Given the description of an element on the screen output the (x, y) to click on. 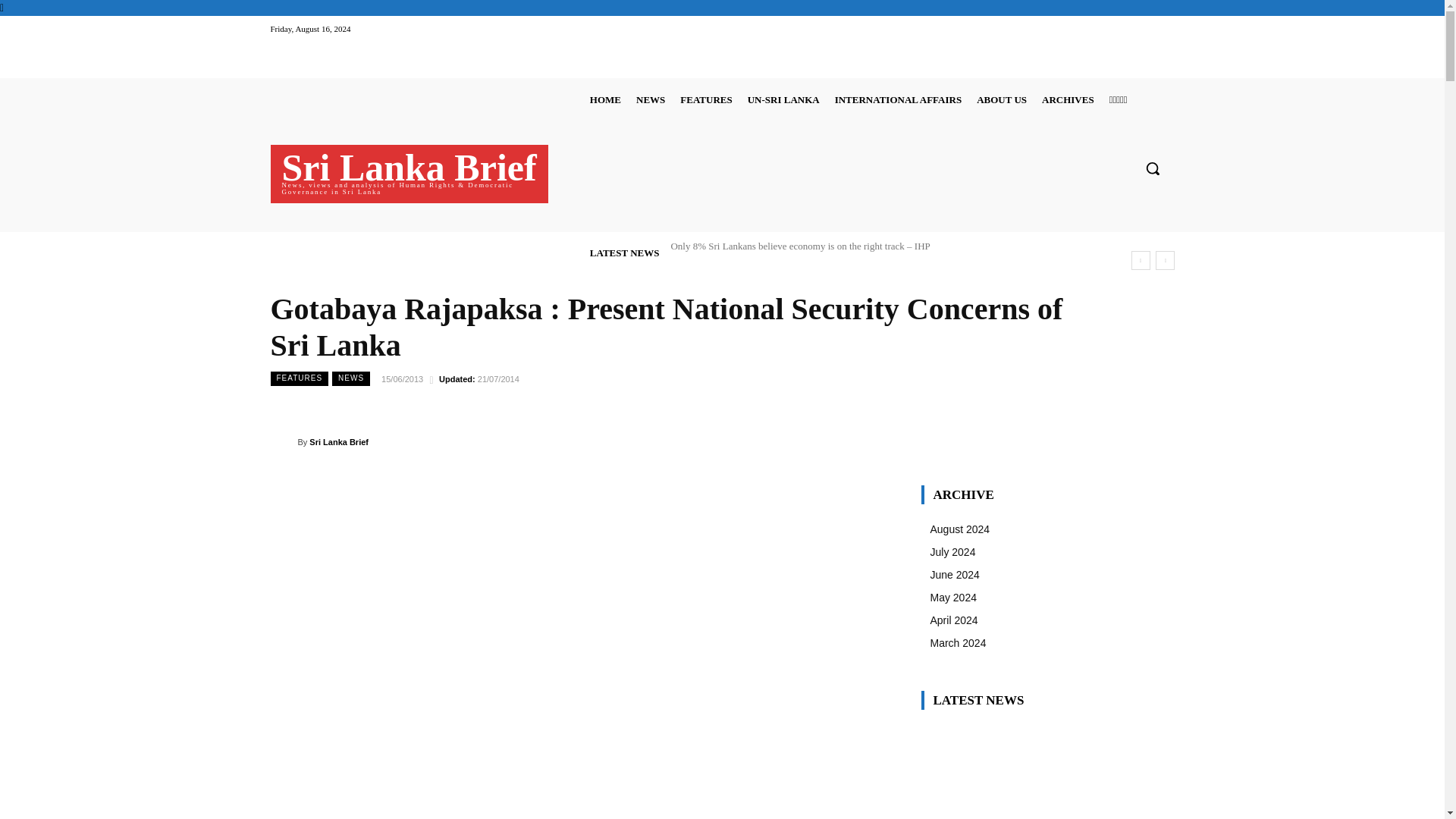
FEATURES (706, 99)
UN-SRI LANKA (783, 99)
ABOUT US (1001, 99)
ARCHIVES (1067, 99)
NEWS (650, 99)
INTERNATIONAL AFFAIRS (898, 99)
HOME (605, 99)
Sri Lanka Brief (283, 441)
